Given the description of an element on the screen output the (x, y) to click on. 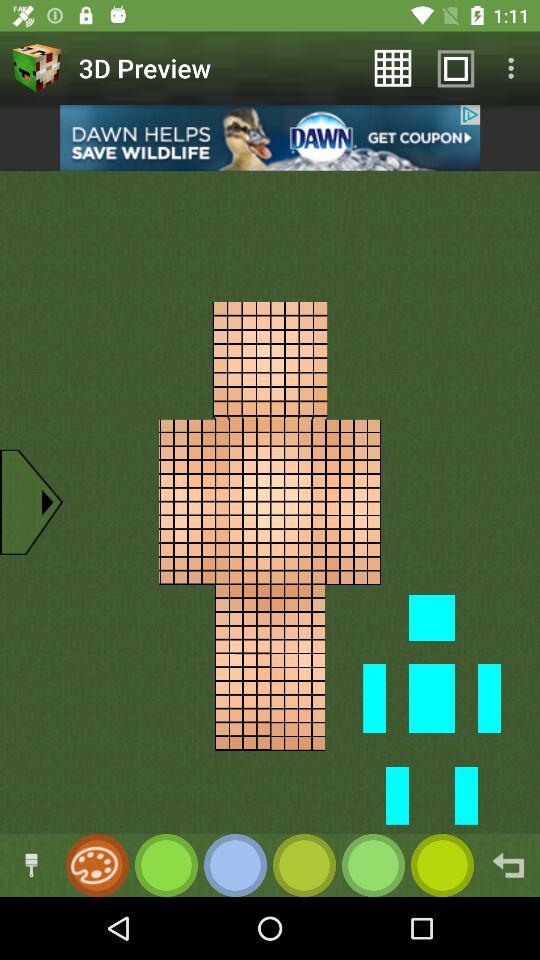
open the color selection (94, 865)
